Given the description of an element on the screen output the (x, y) to click on. 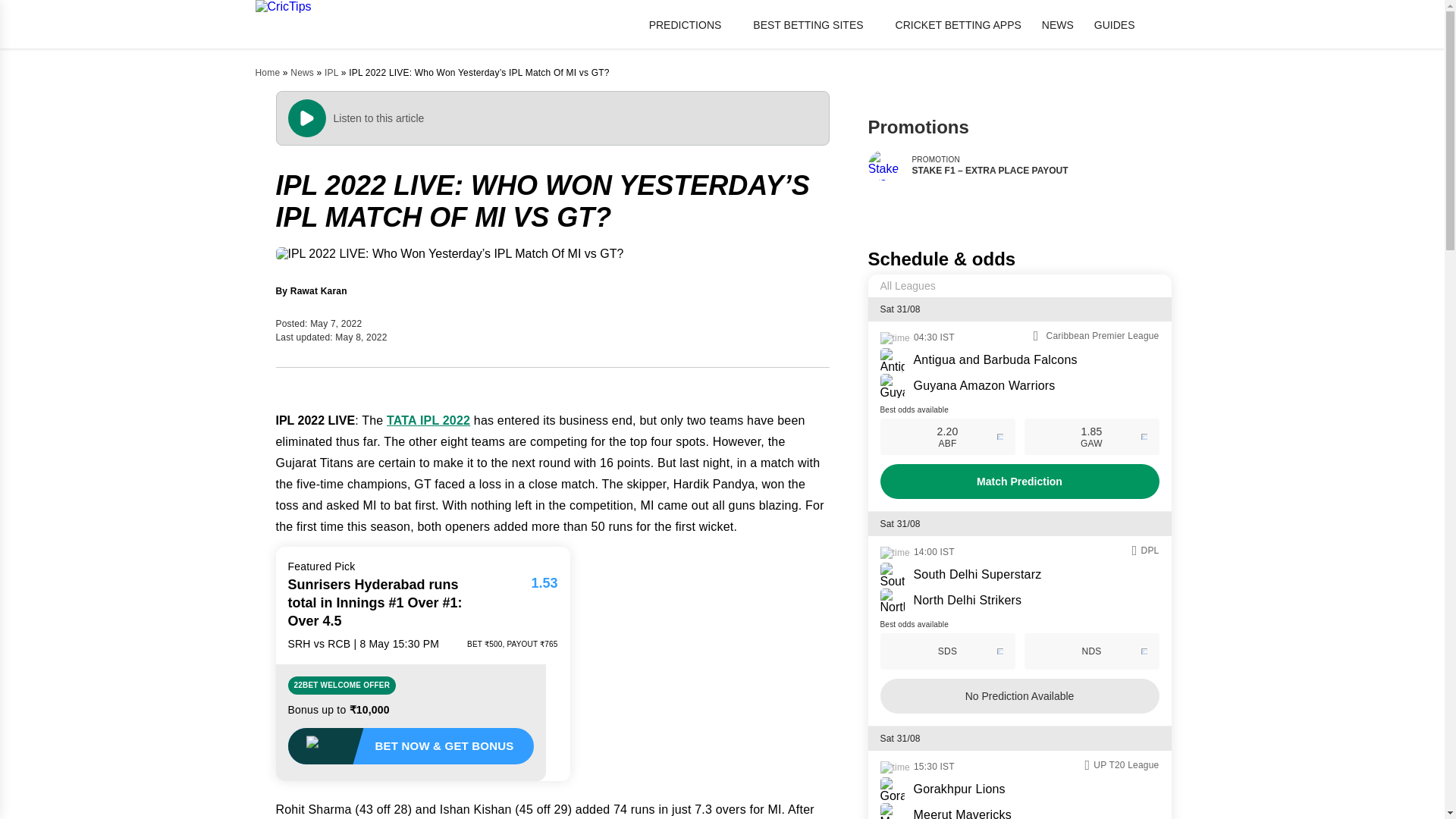
Rawat Karan (318, 290)
NEWS (1058, 24)
Home (266, 72)
TATA IPL 2022 (428, 420)
Play (19, 7)
IPL (330, 72)
PREDICTIONS (691, 24)
GUIDES (1120, 24)
BEST BETTING SITES (813, 24)
News (301, 72)
